Given the description of an element on the screen output the (x, y) to click on. 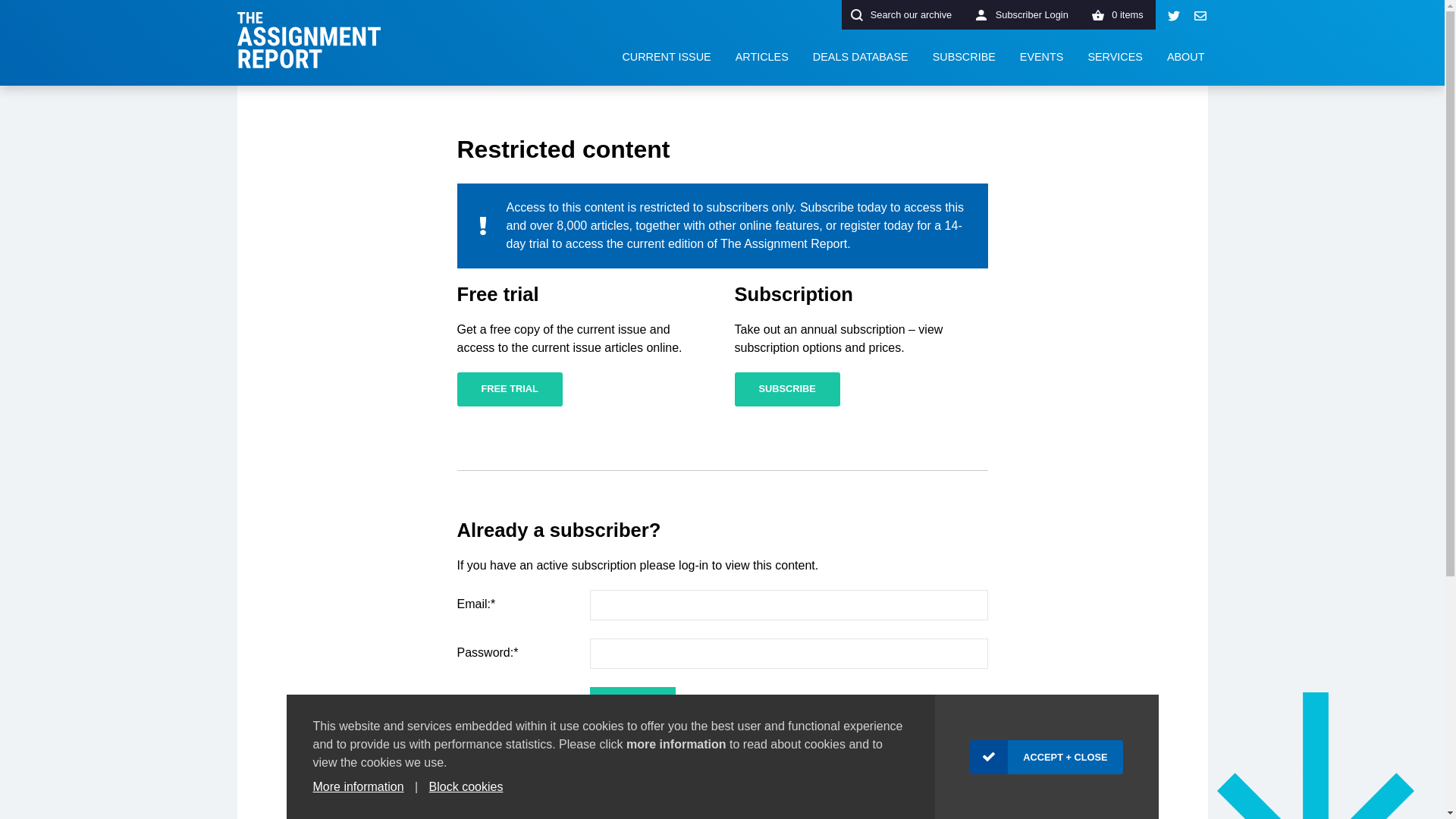
FREE TRIAL (509, 389)
DEALS DATABASE (860, 57)
Articles archive (761, 57)
More information (358, 787)
CURRENT ISSUE (666, 57)
Submit (632, 704)
ARTICLES (761, 57)
Block cookies (466, 787)
The Assignment Report (307, 39)
Find out about The Assignment Report (1185, 57)
Current issue (666, 57)
SERVICES (1114, 57)
Services across the UK education industry (1114, 57)
Subscribe to The Assignment Report (963, 57)
SUBSCRIBE (786, 389)
